Given the description of an element on the screen output the (x, y) to click on. 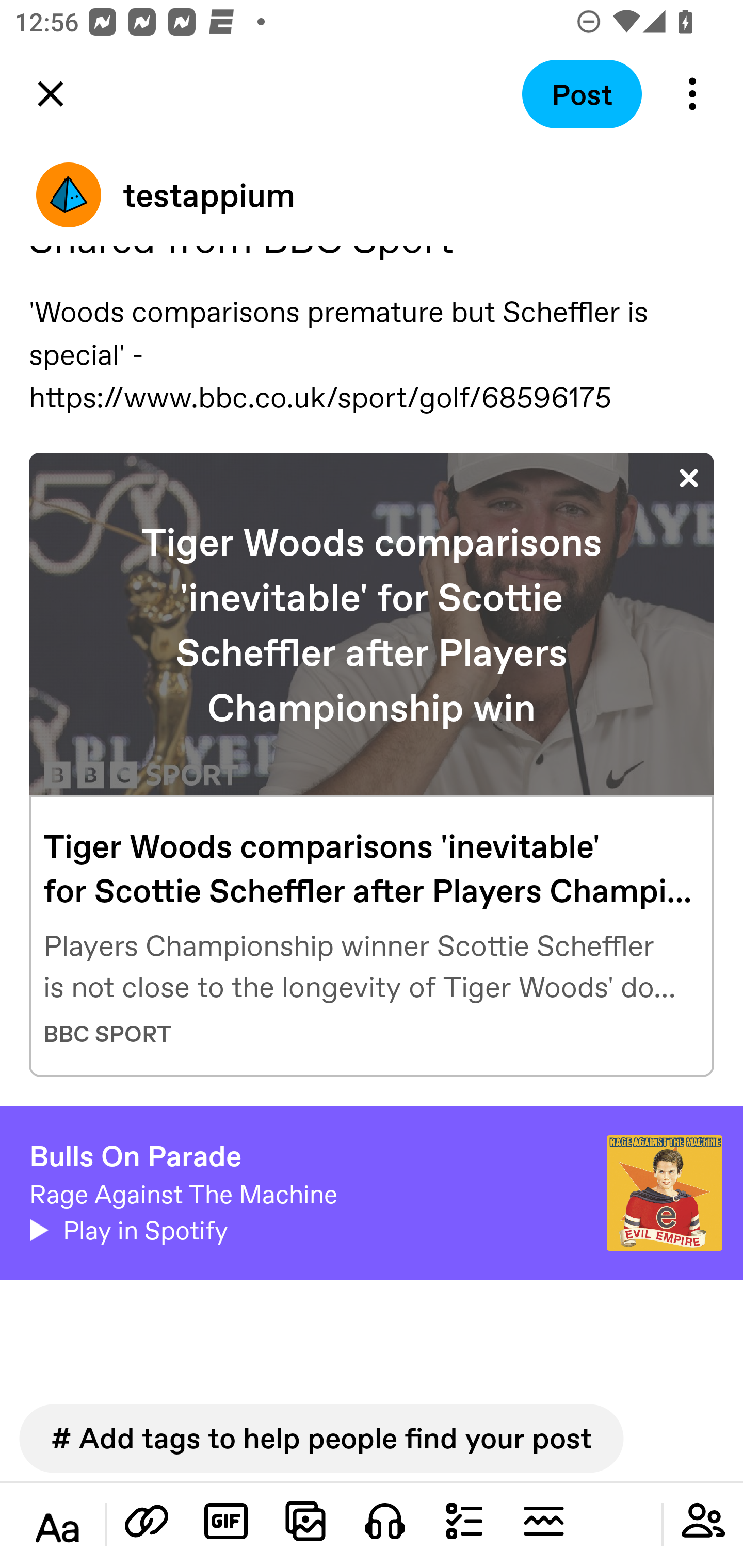
Navigate up (50, 93)
Post (581, 93)
Blog Selector testappium (371, 195)
# Add tags to help people find your post (320, 1438)
Add text to post (146, 1520)
Add GIF to post (225, 1520)
Add Photo to post (305, 1520)
Add Audio to post (384, 1520)
Add Poll to post (463, 1520)
Add read-more link to post (543, 1520)
Add community label for post (703, 1520)
Add text to post (57, 1528)
